Given the description of an element on the screen output the (x, y) to click on. 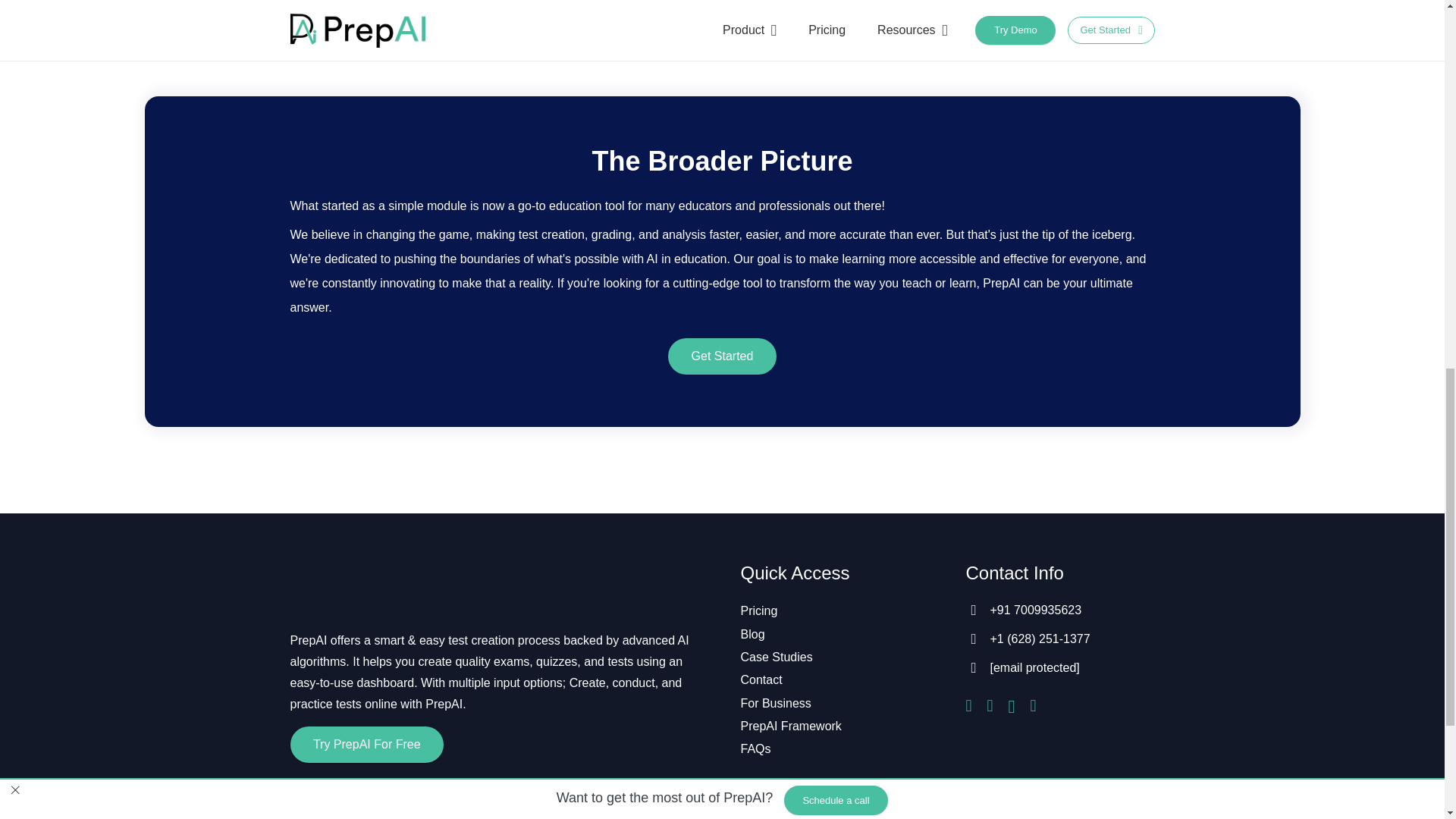
Back to top (1413, 30)
